Given the description of an element on the screen output the (x, y) to click on. 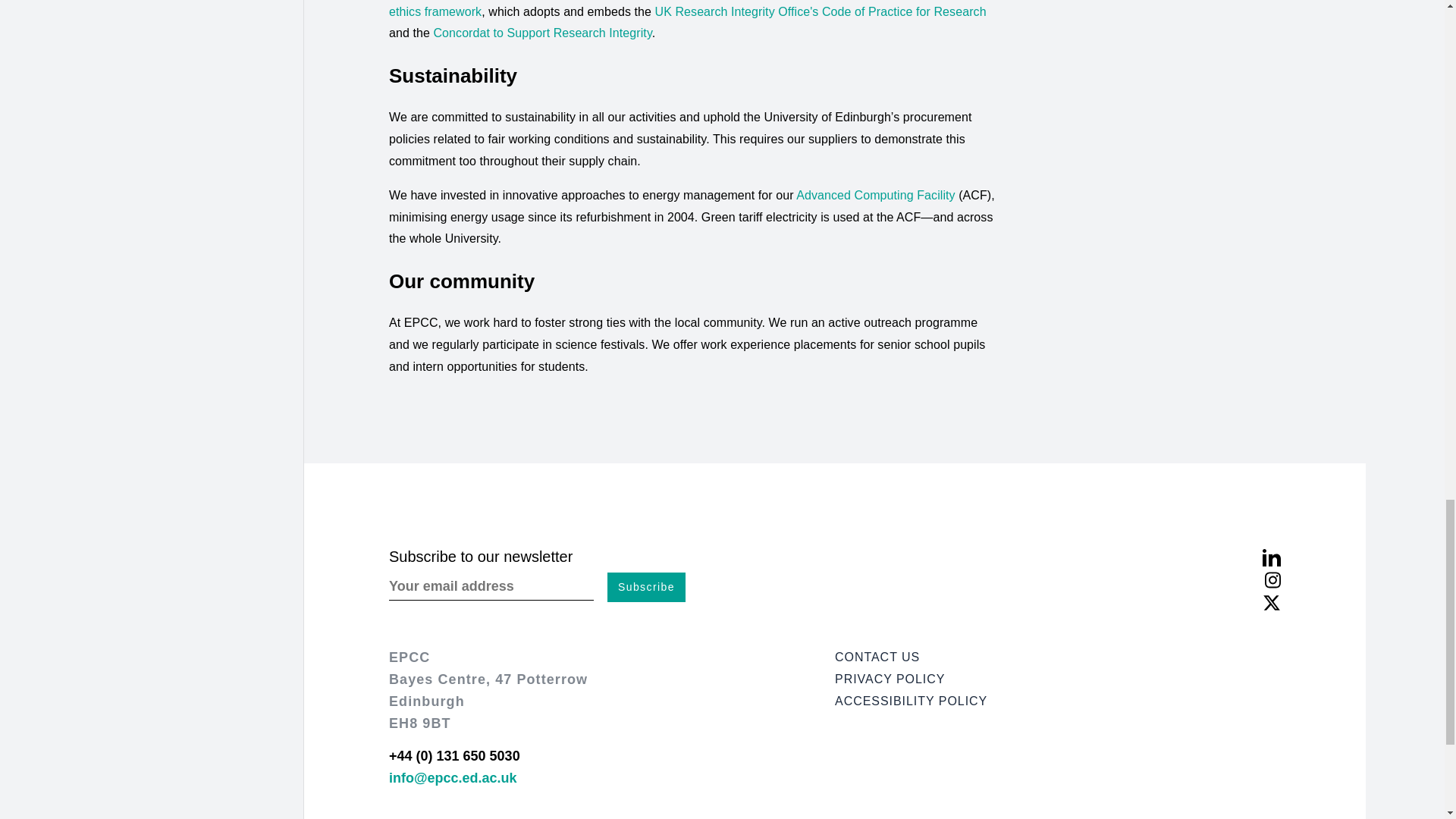
Concordat to Support Research Integrity (541, 32)
research ethics framework (688, 9)
UK Research Integrity Office's Code of Practice for Research (821, 11)
Advanced Computing Facility (875, 195)
Subscribe (646, 586)
ACCESSIBILITY POLICY (1057, 701)
Subscribe (646, 586)
CONTACT US (1057, 658)
PRIVACY POLICY (1057, 680)
